Given the description of an element on the screen output the (x, y) to click on. 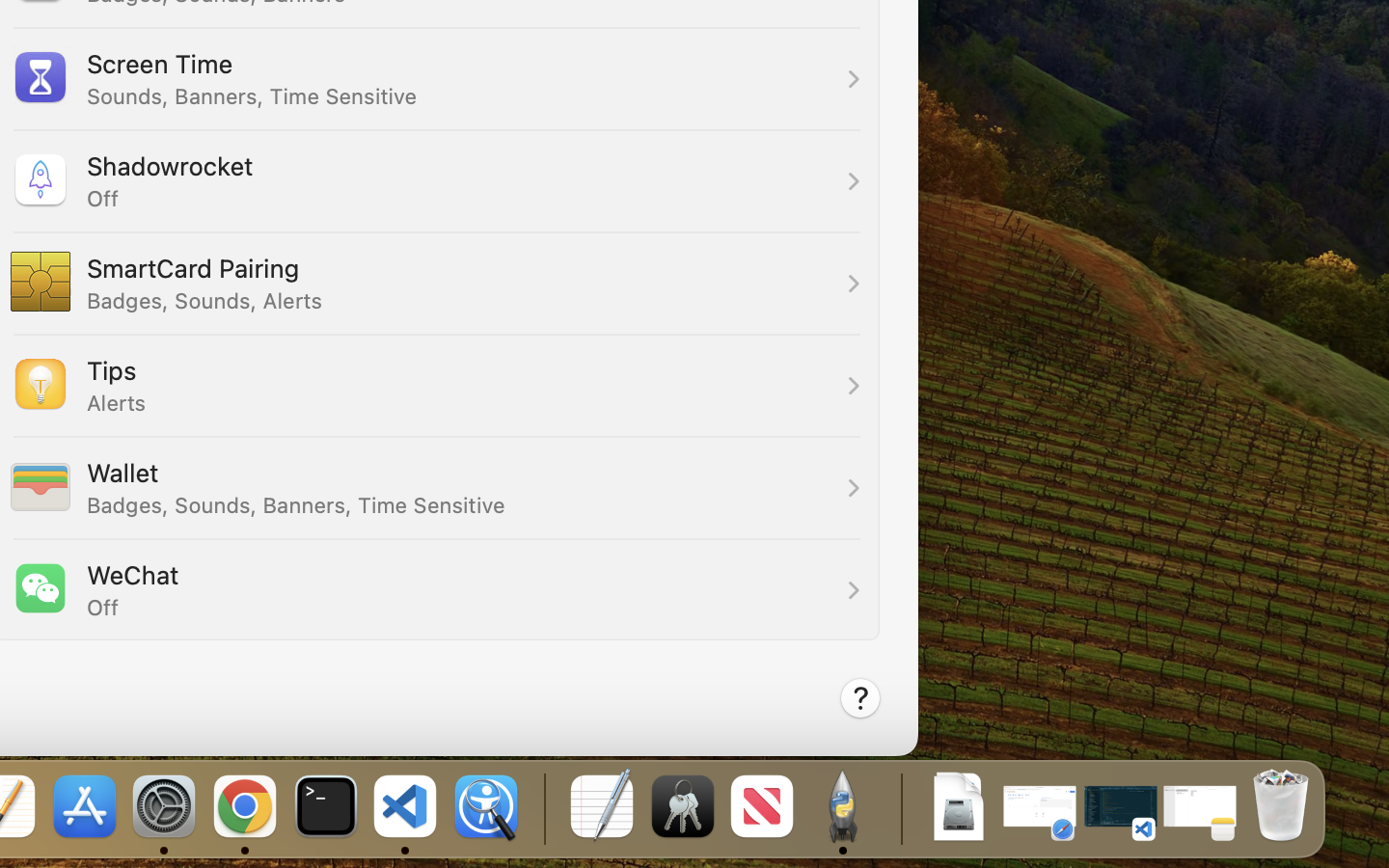
0.4285714328289032 Element type: AXDockItem (541, 807)
